Given the description of an element on the screen output the (x, y) to click on. 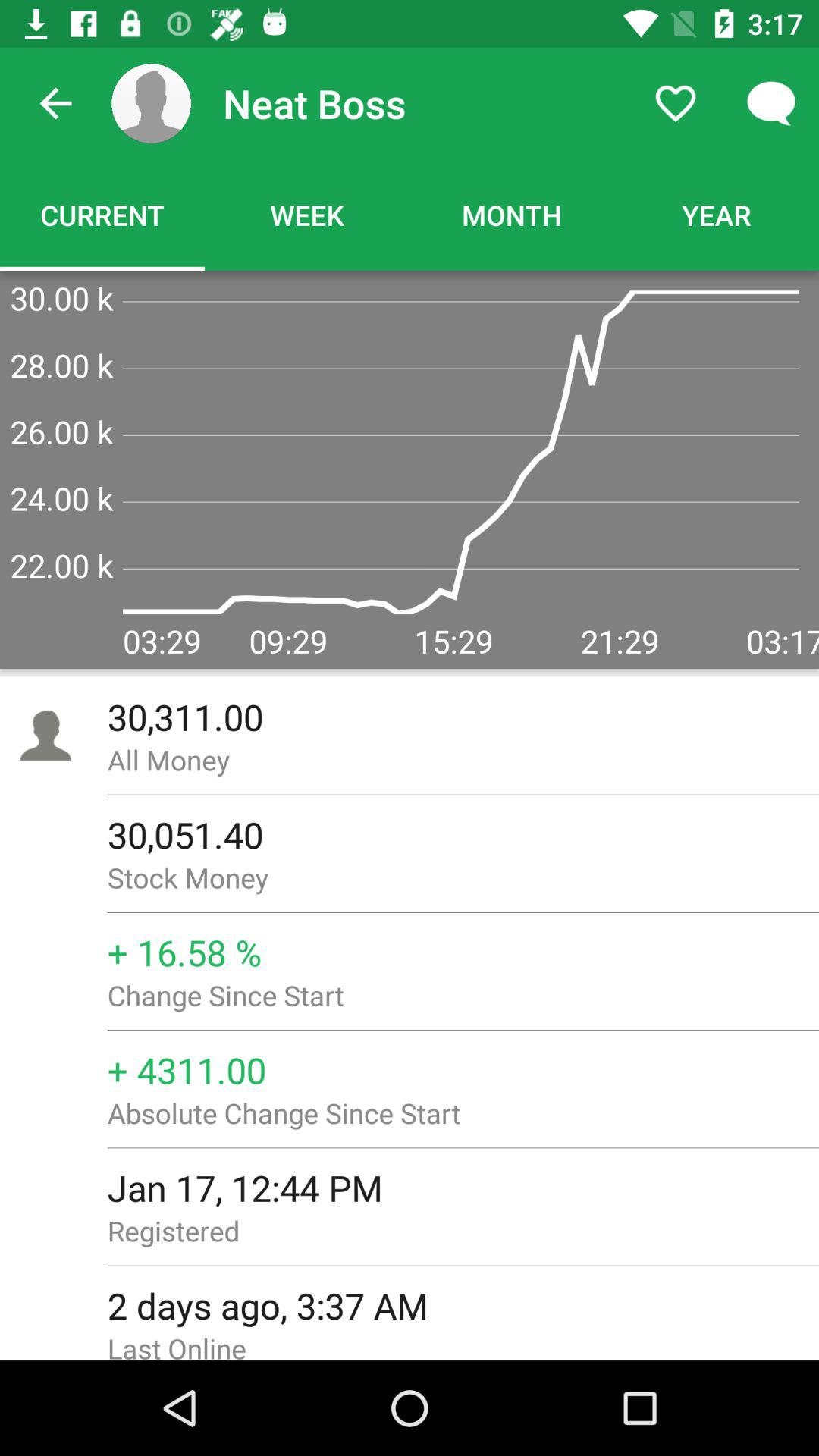
launch item above the current item (55, 103)
